Given the description of an element on the screen output the (x, y) to click on. 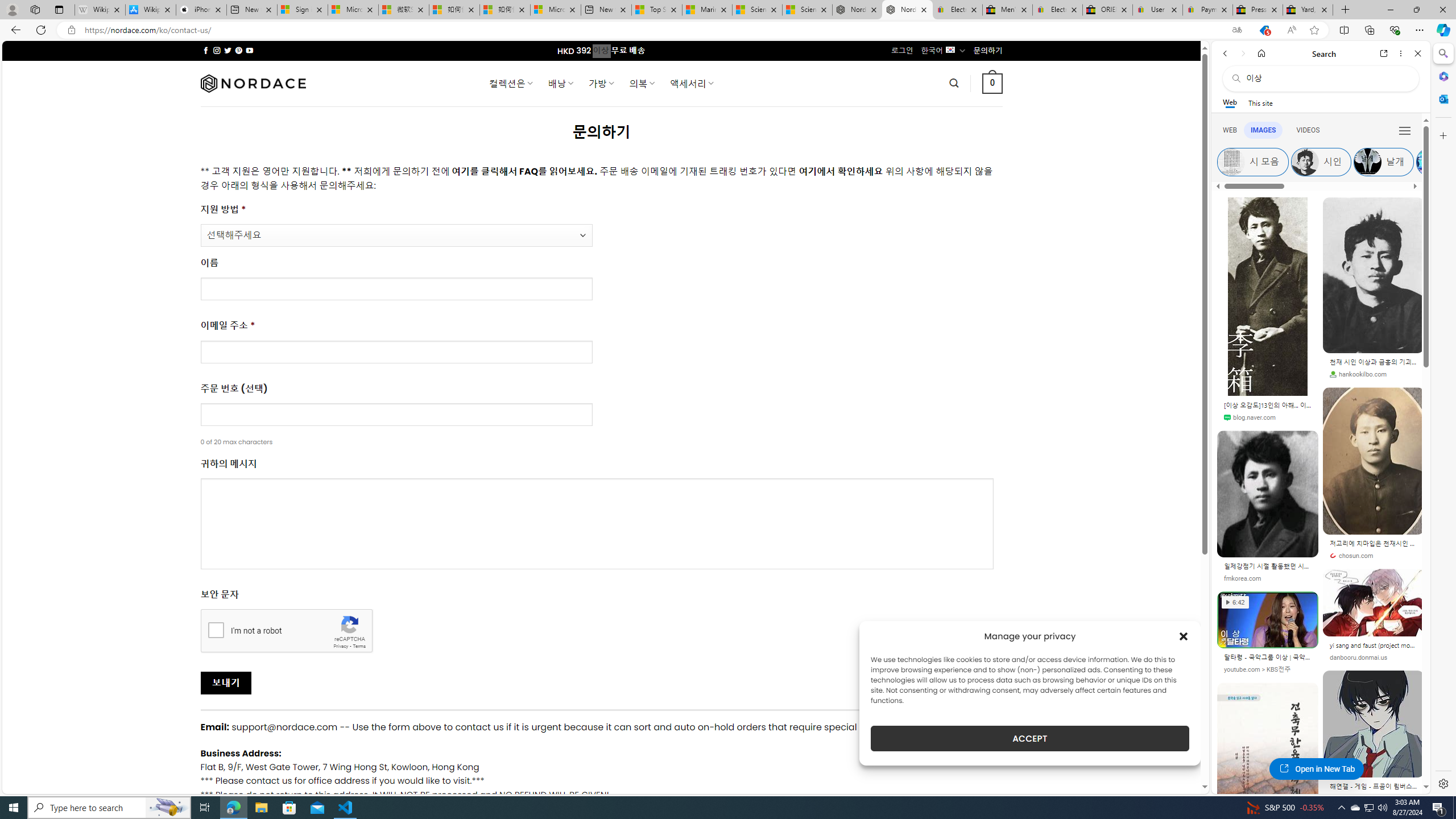
Class: cmplz-close (1183, 636)
